Given the description of an element on the screen output the (x, y) to click on. 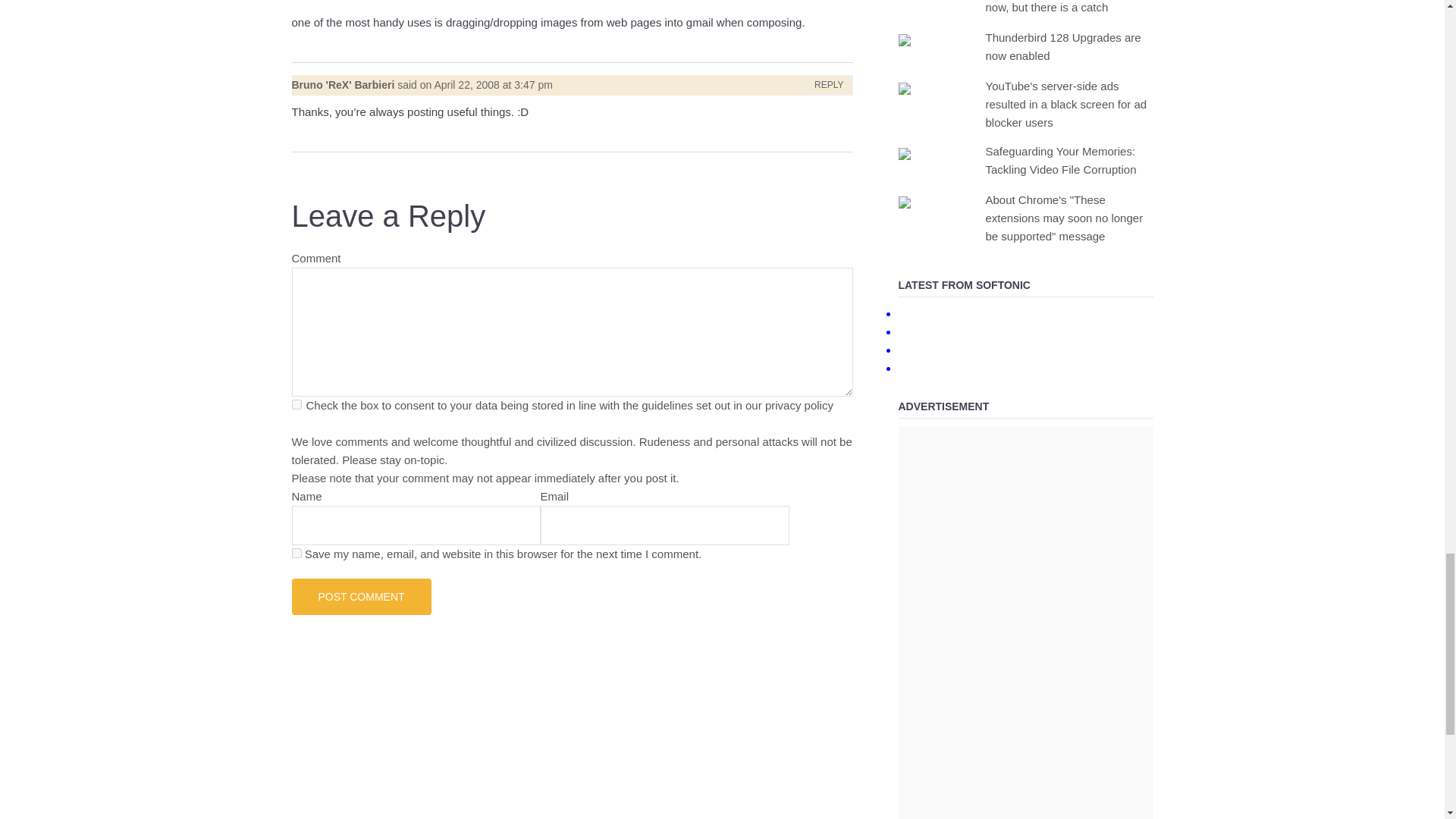
privacy-key (296, 404)
yes (296, 552)
Post Comment (360, 596)
